Given the description of an element on the screen output the (x, y) to click on. 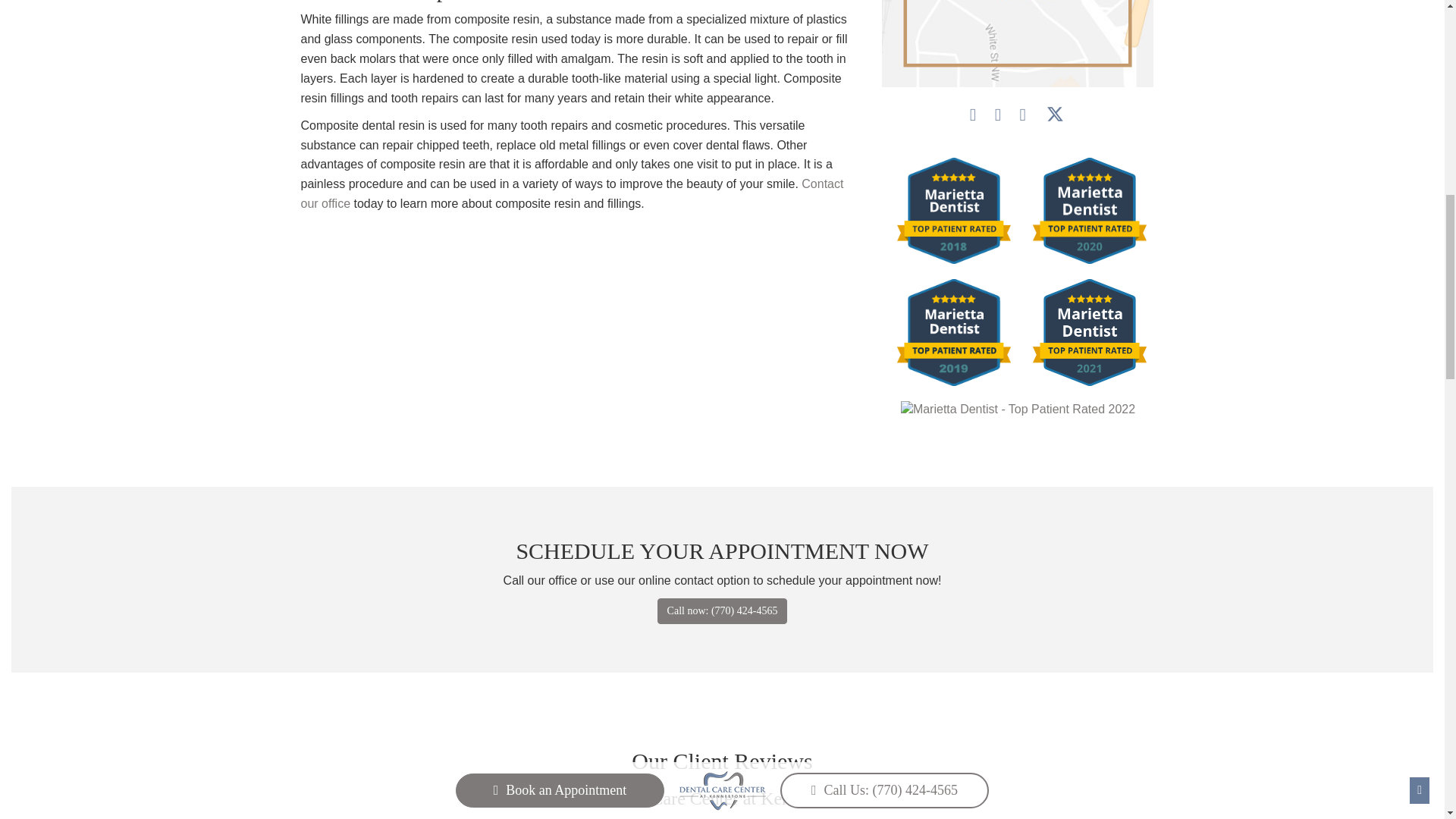
Contact Dental Care Center at Kennestone in Marietta GA (571, 193)
